Given the description of an element on the screen output the (x, y) to click on. 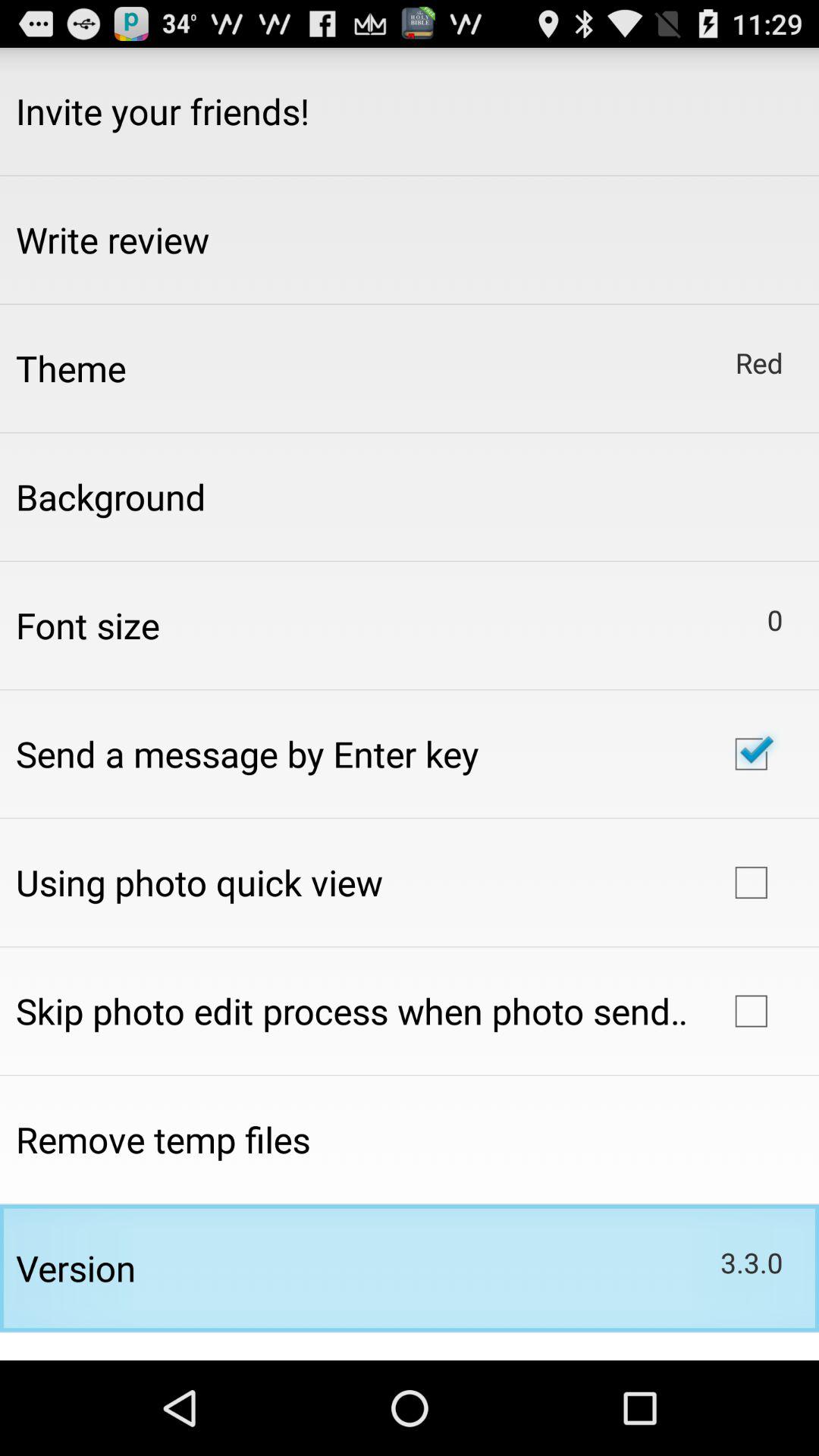
turn on item to the left of 3.3.0 icon (75, 1267)
